Given the description of an element on the screen output the (x, y) to click on. 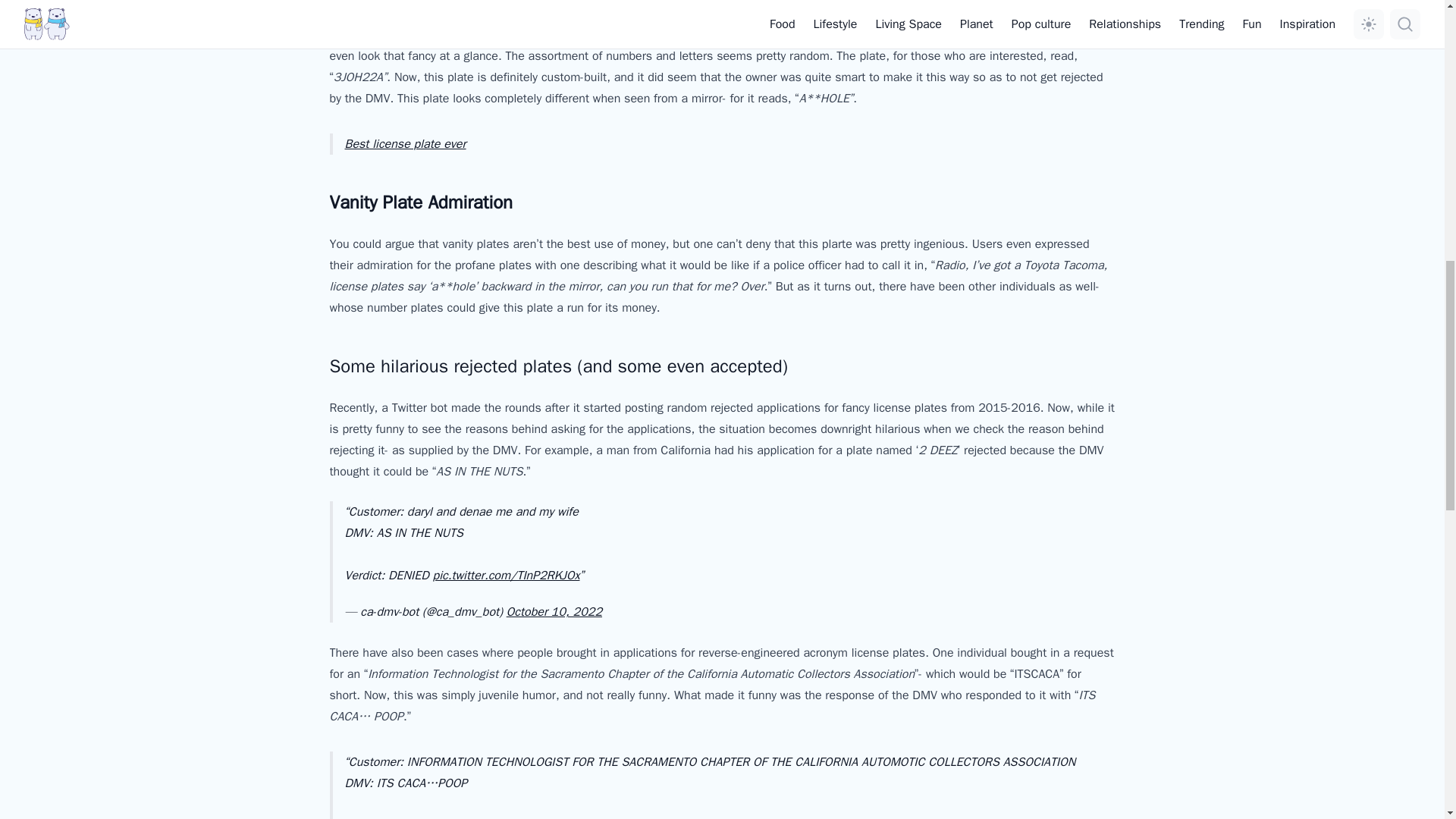
Best license plate ever (404, 143)
October 10, 2022 (554, 611)
